Given the description of an element on the screen output the (x, y) to click on. 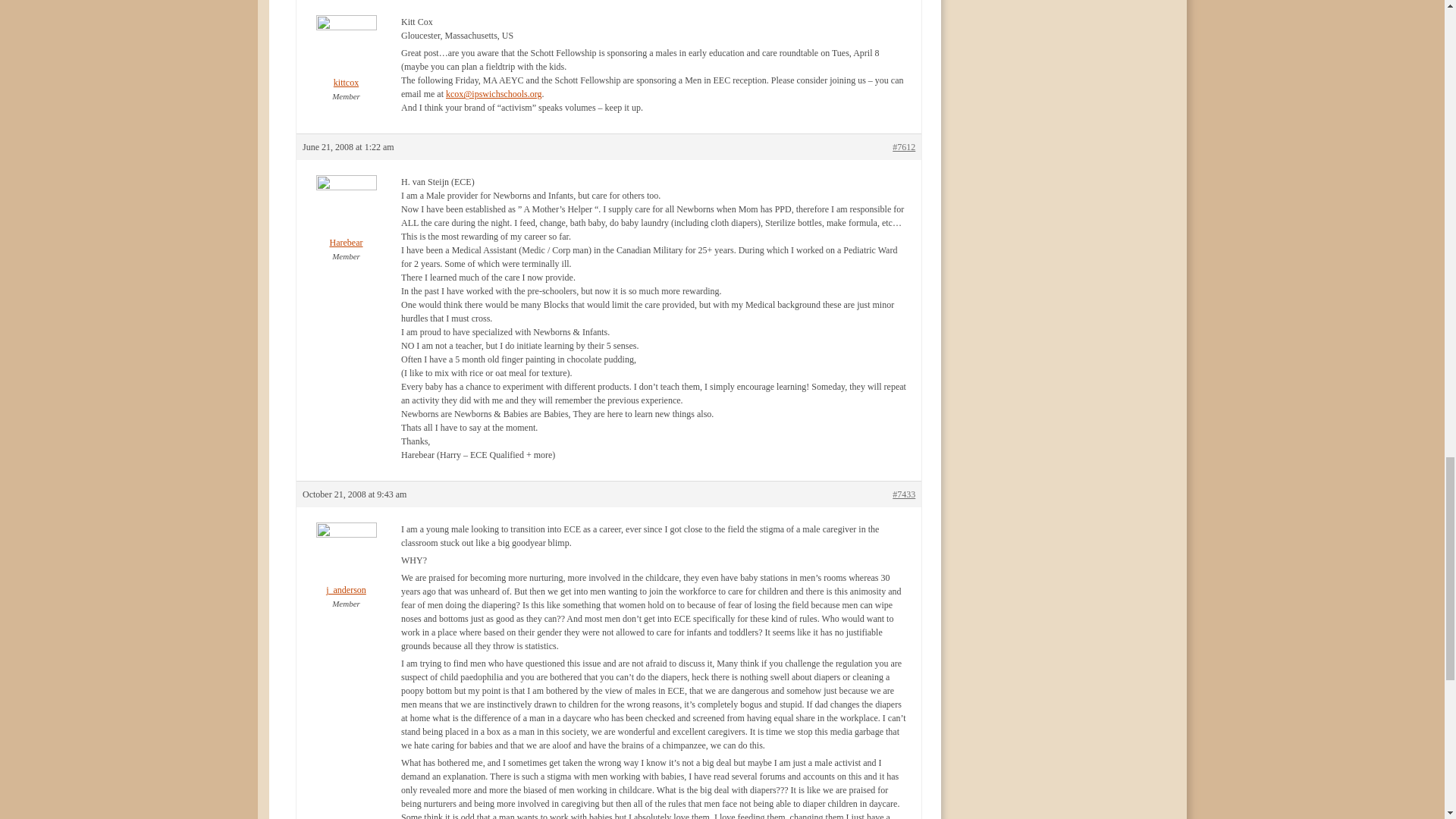
View kittcox's profile (346, 62)
View Harebear's profile (346, 221)
Harebear (346, 221)
kittcox (346, 62)
